Given the description of an element on the screen output the (x, y) to click on. 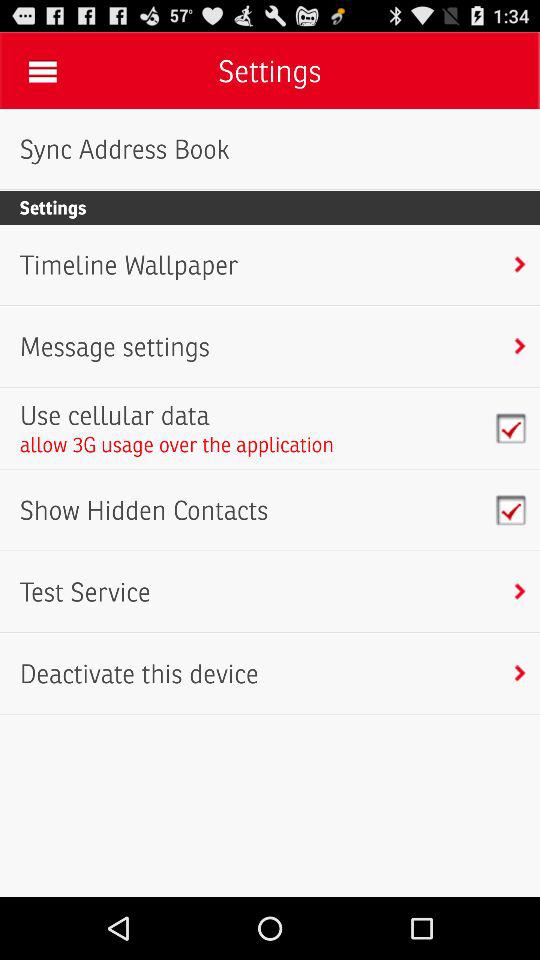
flip until the test service item (84, 592)
